Given the description of an element on the screen output the (x, y) to click on. 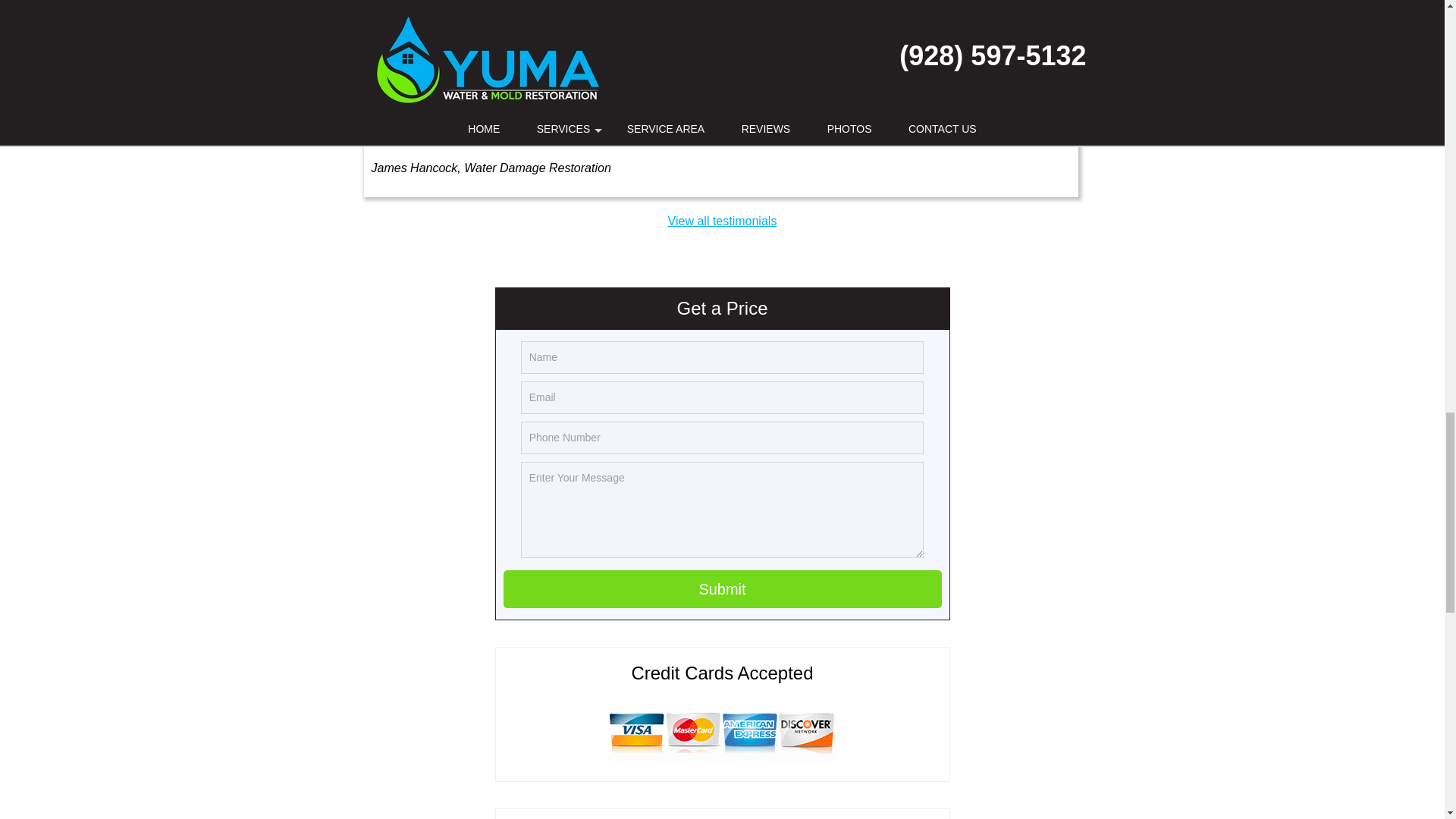
View all testimonials (722, 220)
Submit (722, 589)
